Given the description of an element on the screen output the (x, y) to click on. 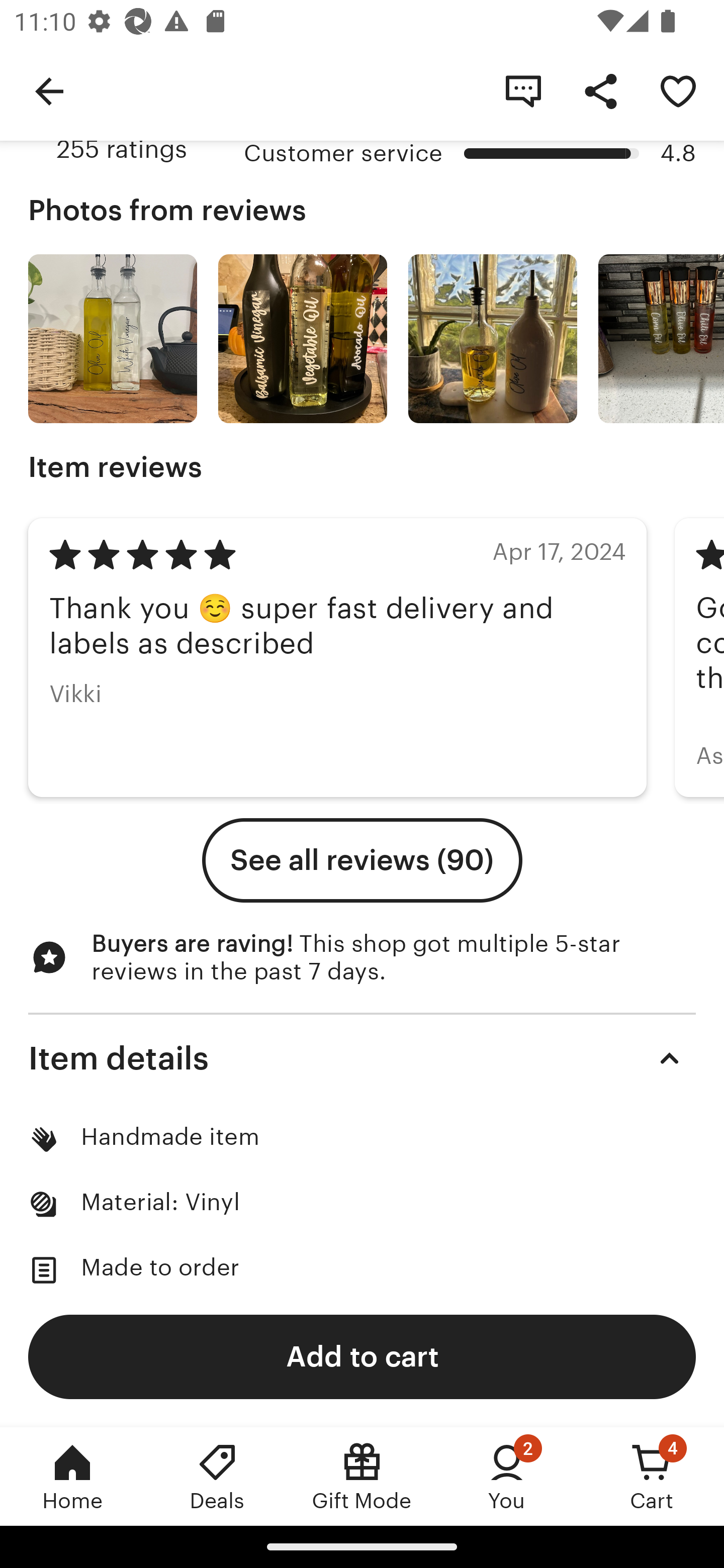
Navigate up (49, 90)
Contact shop (523, 90)
Share (600, 90)
Photo from review (112, 338)
Photo from review (302, 338)
Photo from review (492, 338)
Photo from review (661, 338)
See all reviews (90) (361, 860)
Item details (362, 1057)
Add to cart (361, 1355)
Deals (216, 1475)
Gift Mode (361, 1475)
You, 2 new notifications You (506, 1475)
Cart, 4 new notifications Cart (651, 1475)
